Given the description of an element on the screen output the (x, y) to click on. 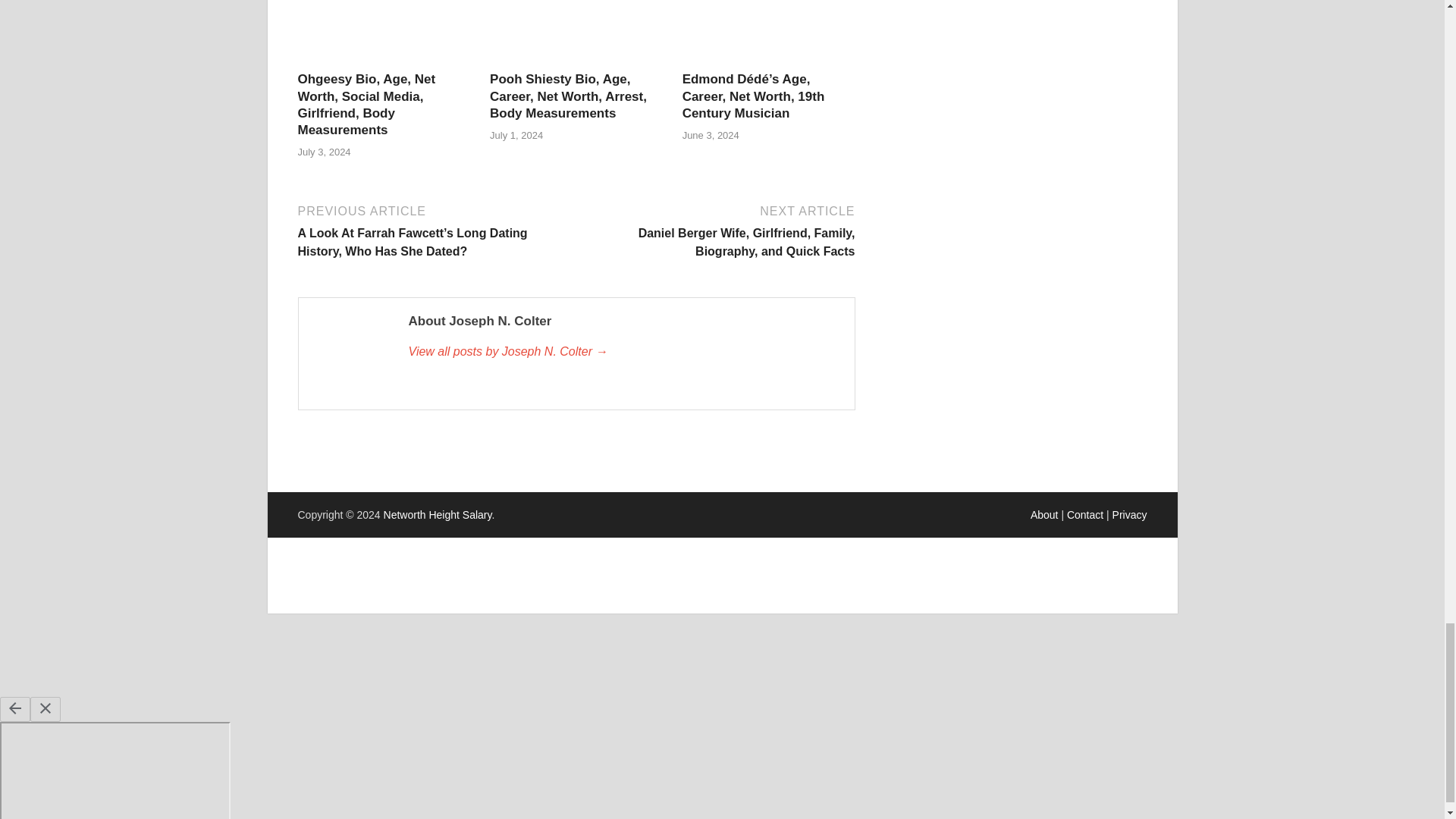
Joseph N. Colter (622, 352)
